Given the description of an element on the screen output the (x, y) to click on. 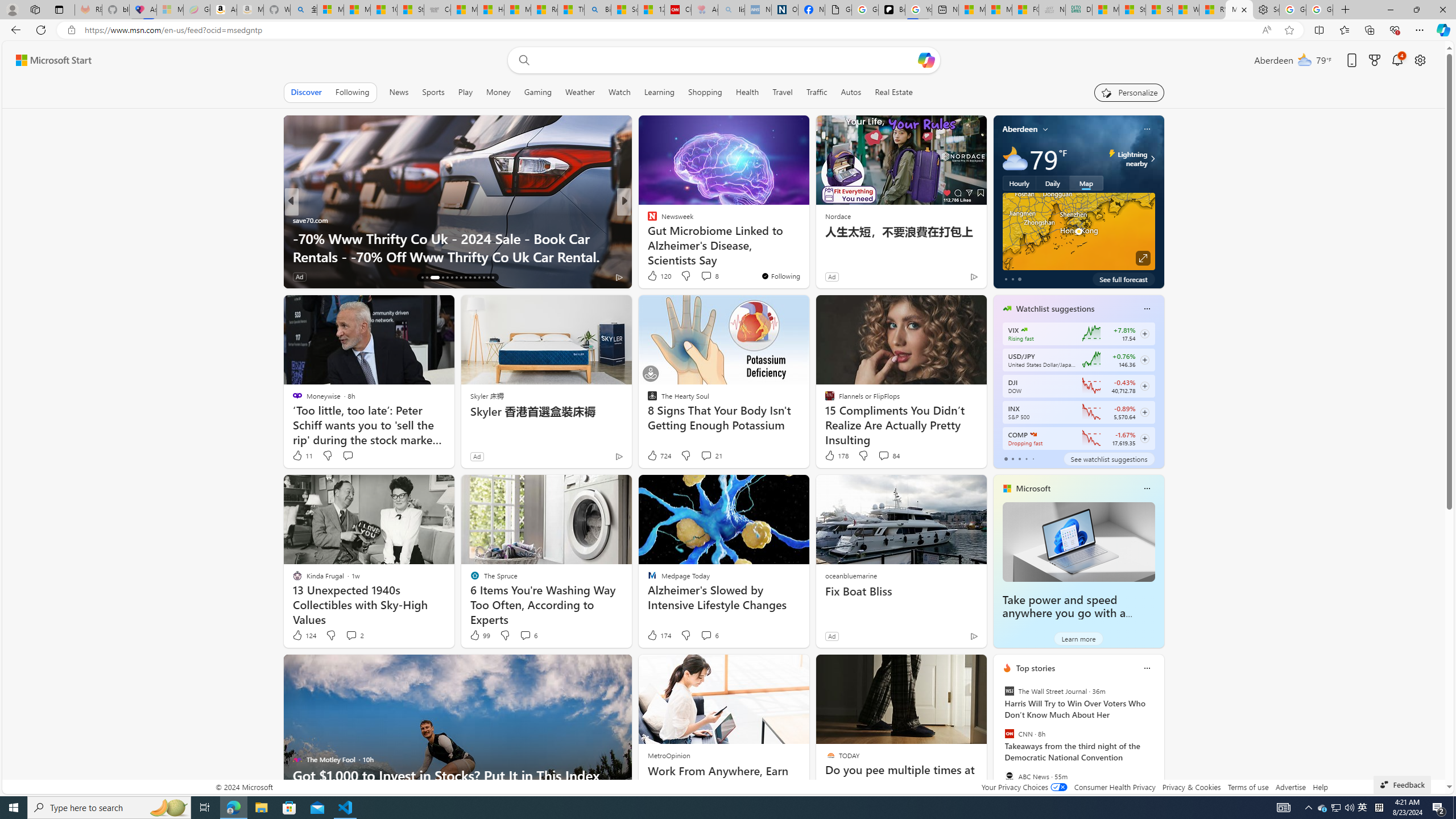
Hide this story (952, 668)
14 Signs Your Brain Is Aging Faster Than You Are (807, 256)
View comments 68 Comment (703, 276)
FOX News - MSN (1025, 9)
